Given the description of an element on the screen output the (x, y) to click on. 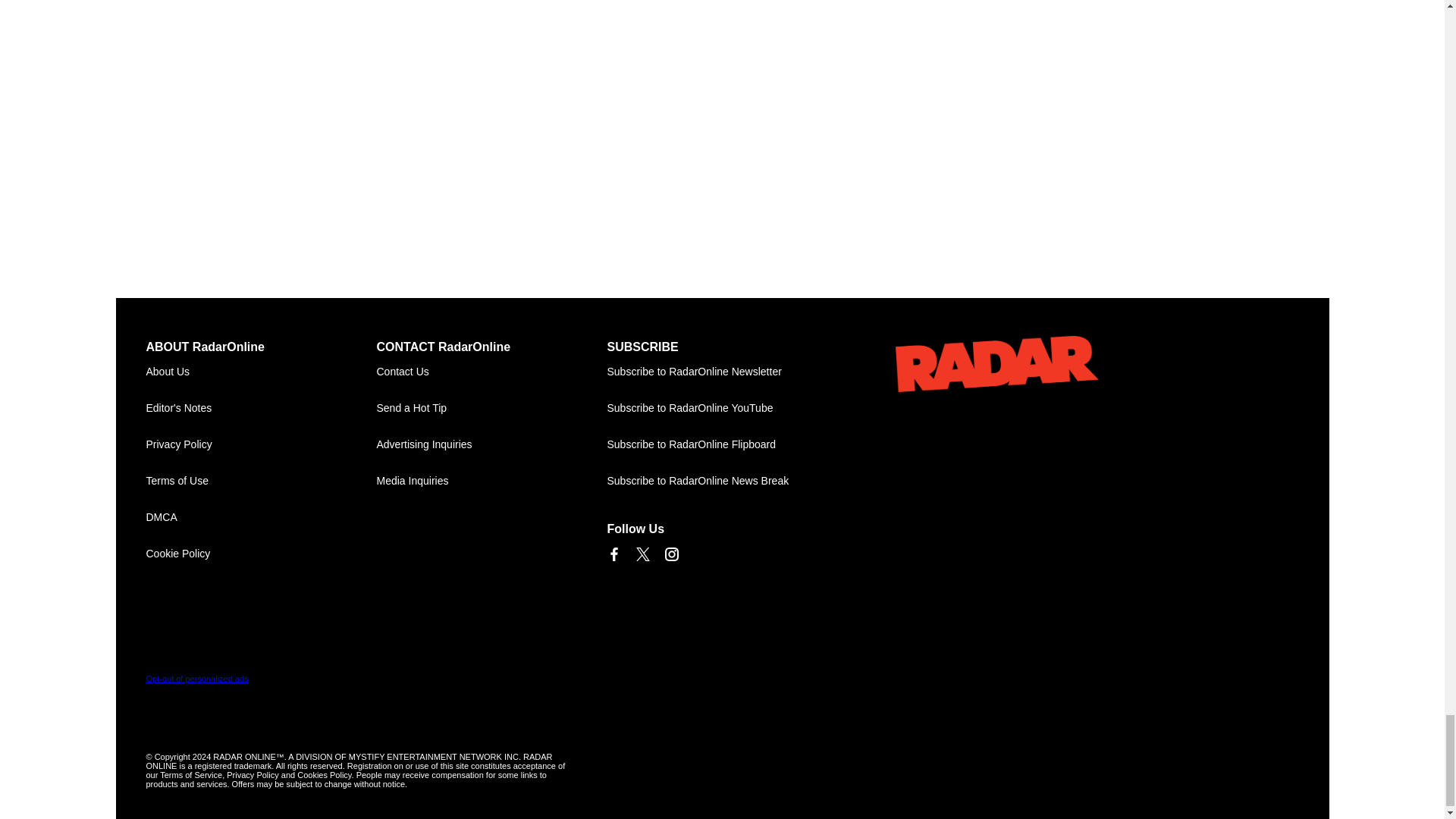
Contact Us (491, 371)
Cookie Policy (260, 554)
Subscribe (722, 371)
Advertising Inquiries (491, 444)
Privacy Policy (260, 444)
About Us (260, 371)
Link to Instagram (670, 554)
Link to X (641, 554)
Editor's Notes (260, 408)
Link to Facebook (613, 554)
